Given the description of an element on the screen output the (x, y) to click on. 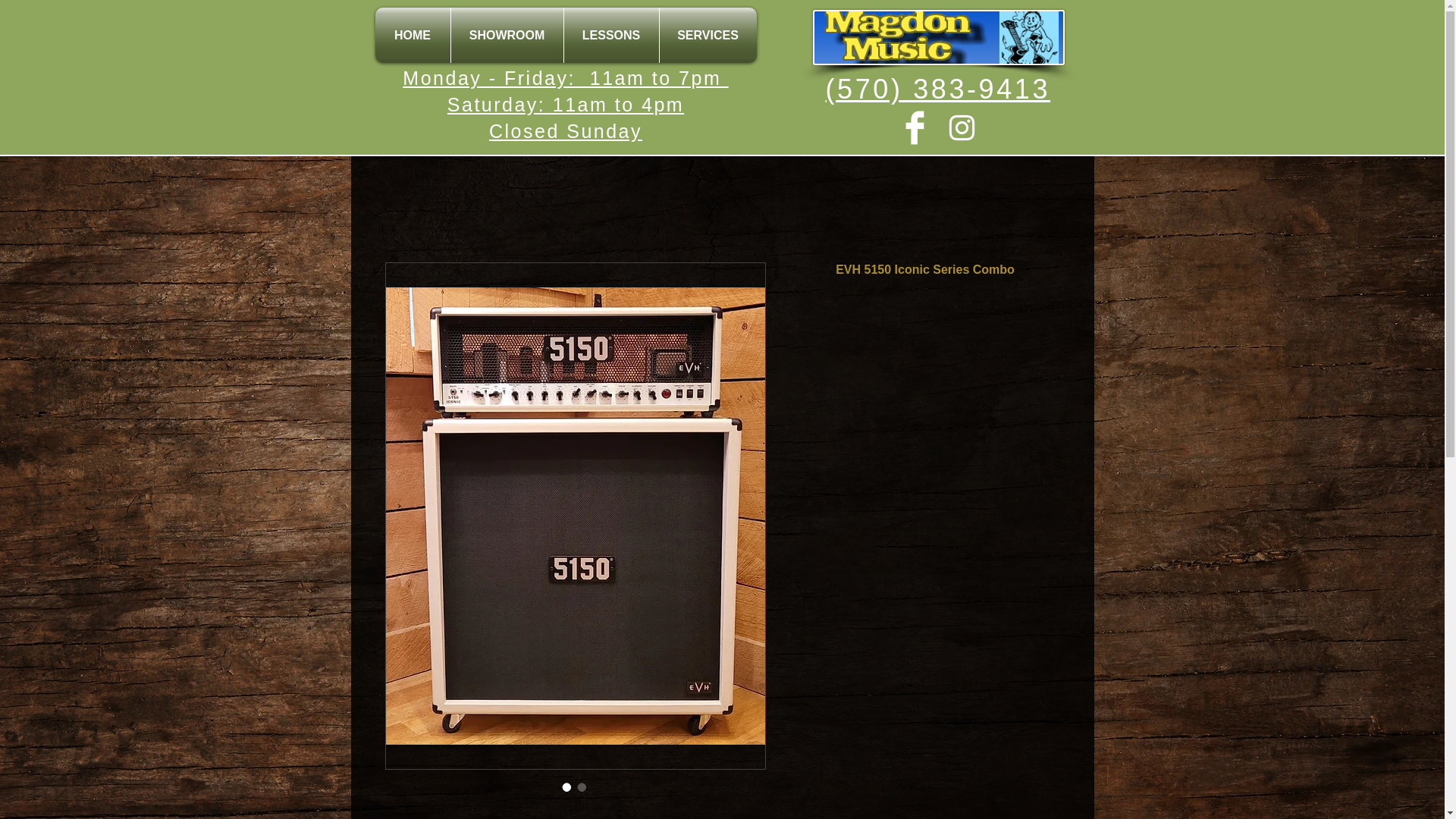
LESSONS (611, 35)
HOME (411, 35)
SERVICES (708, 35)
SHOWROOM (505, 35)
